Given the description of an element on the screen output the (x, y) to click on. 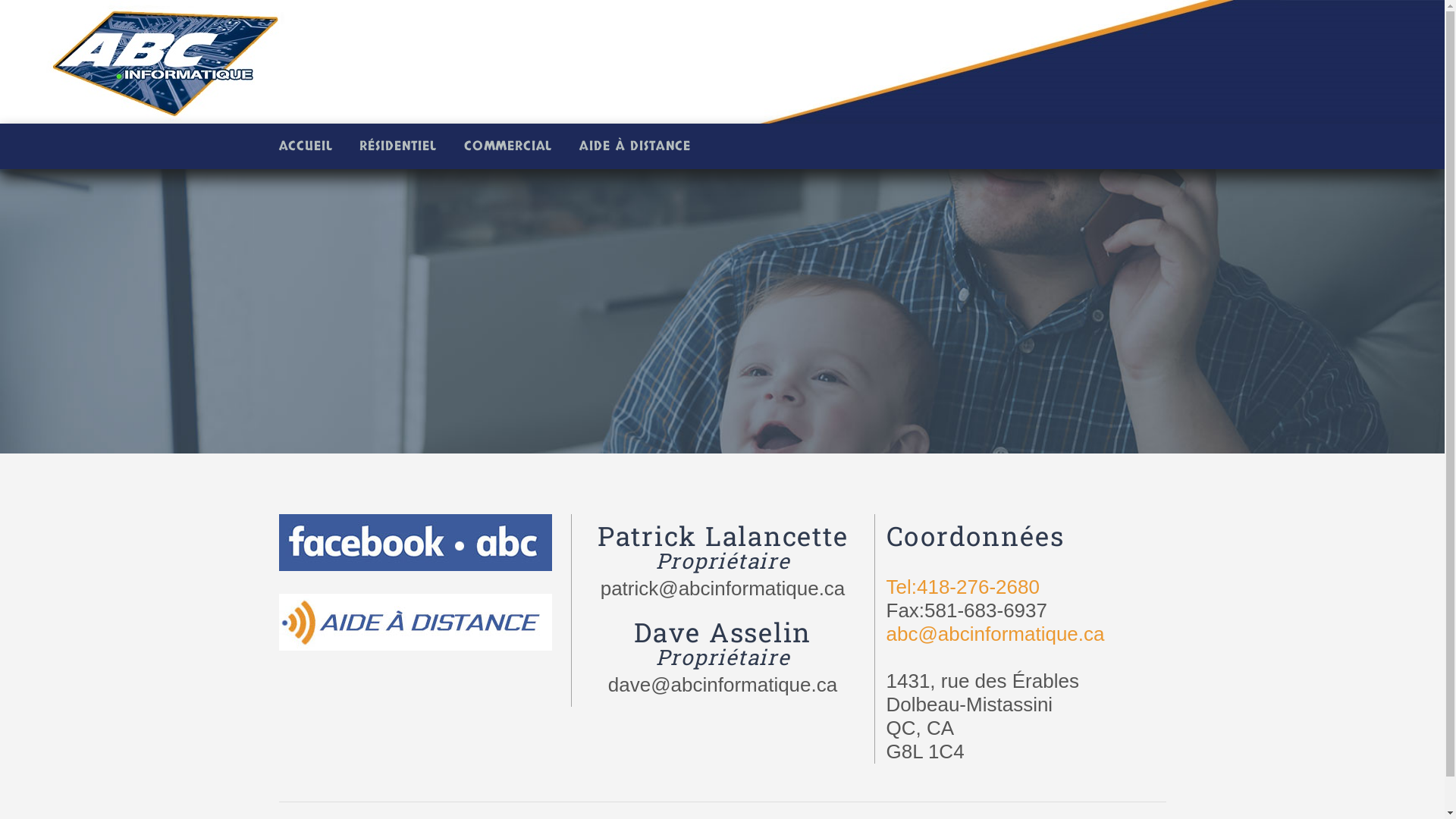
Tel:418-276-2680 Element type: text (961, 586)
abc@abcinformatique.ca Element type: text (994, 633)
COMMERCIAL Element type: text (509, 146)
ACCUEIL Element type: text (313, 146)
Visitez notre page Facebook Element type: hover (415, 552)
